Given the description of an element on the screen output the (x, y) to click on. 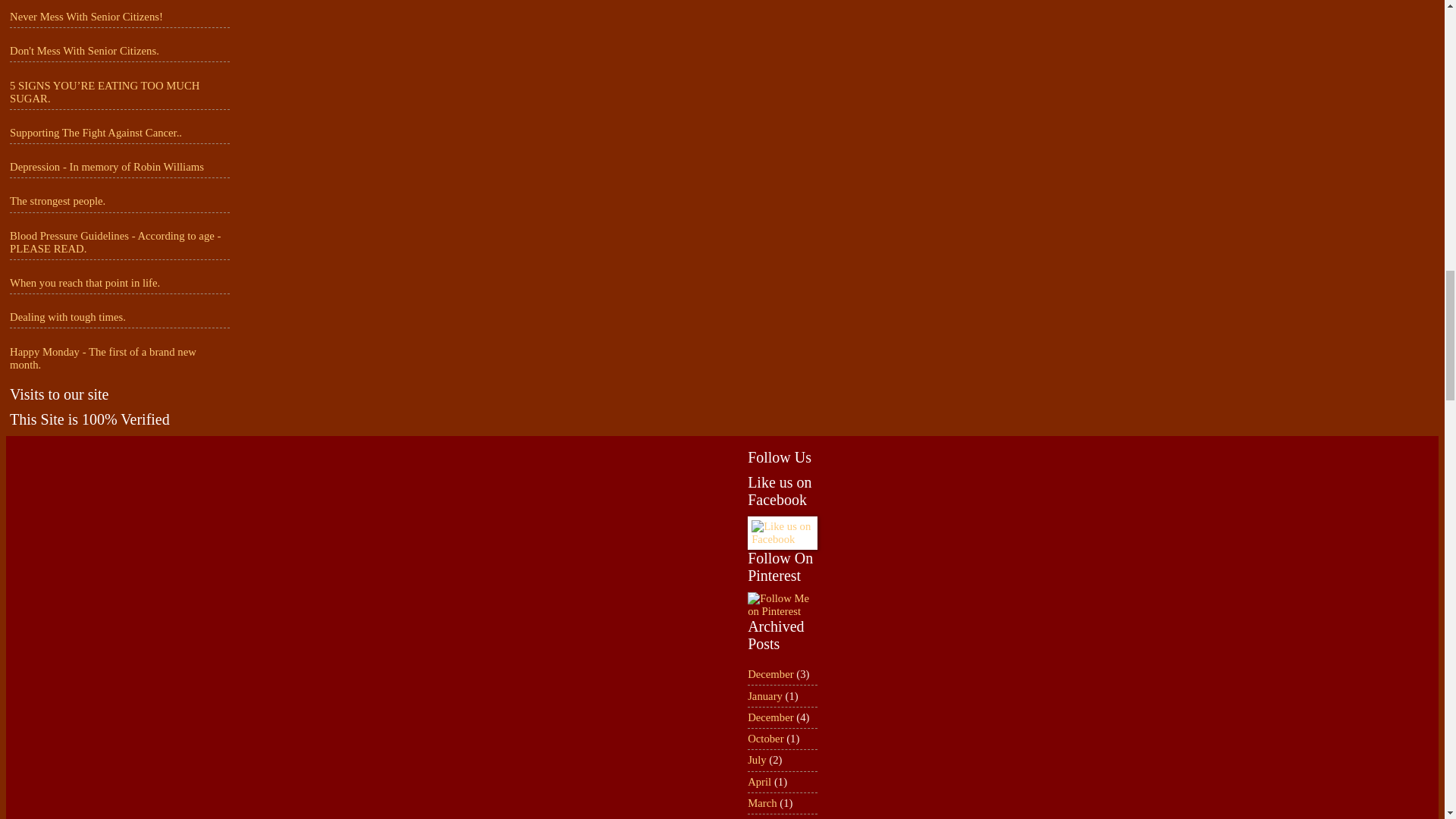
Depression - In memory of Robin Williams (106, 166)
Supporting The Fight Against Cancer.. (96, 132)
Don't Mess With Senior Citizens. (84, 50)
Never Mess With Senior Citizens! (86, 16)
